Given the description of an element on the screen output the (x, y) to click on. 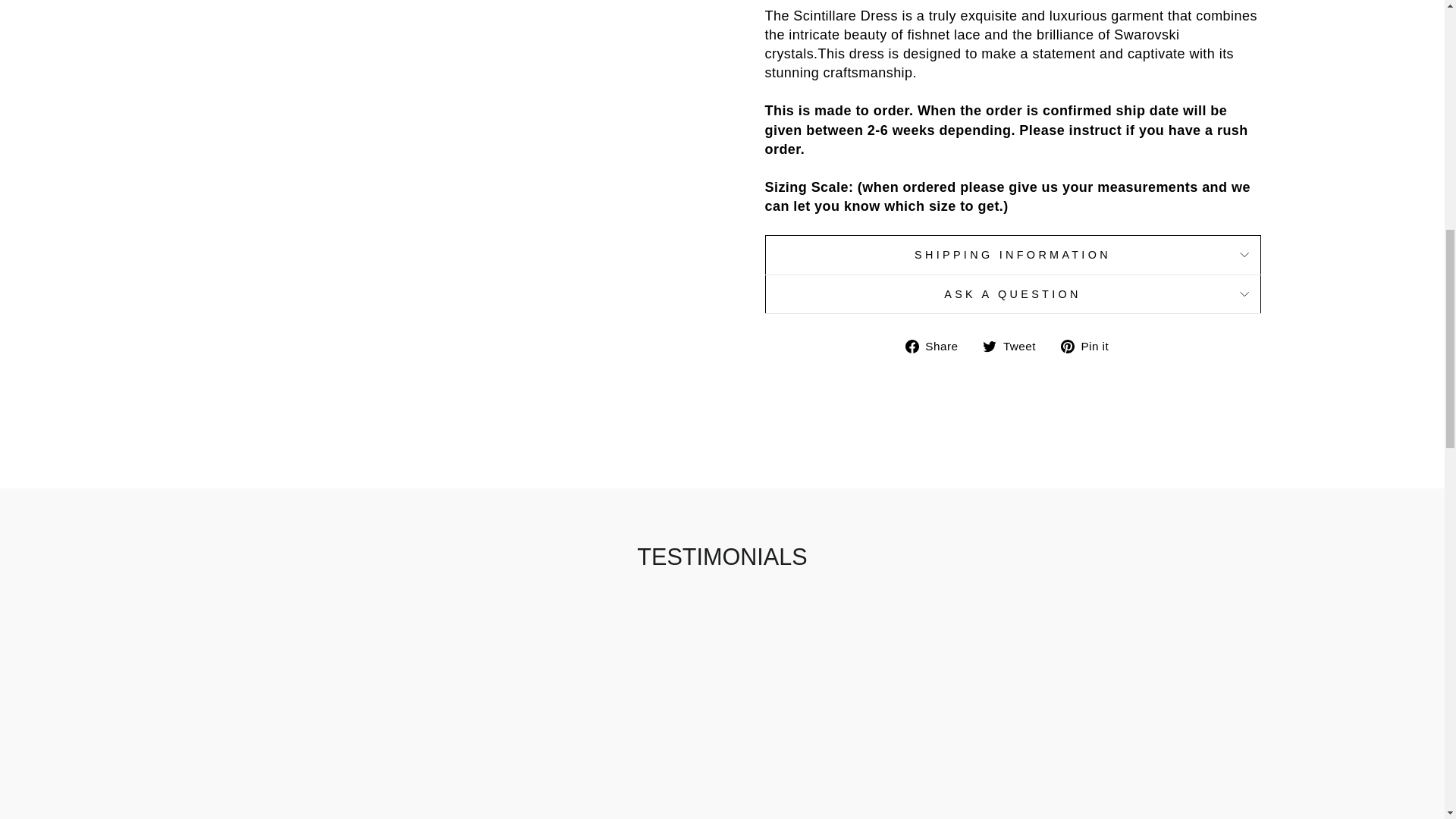
Share on Facebook (937, 345)
Pin on Pinterest (1090, 345)
Tweet on Twitter (1014, 345)
